Given the description of an element on the screen output the (x, y) to click on. 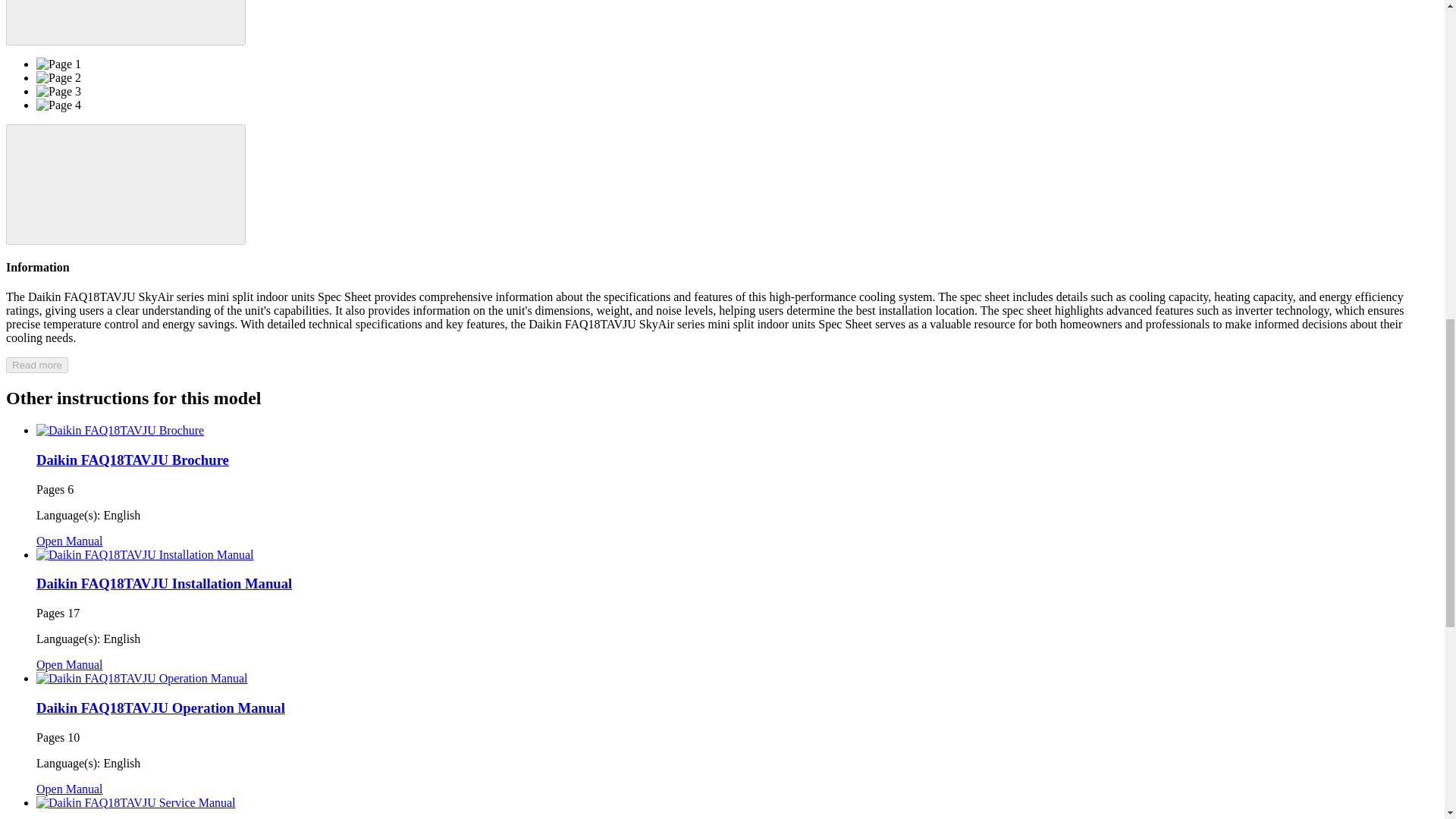
Daikin FAQ18TAVJU Operation Manual (160, 707)
Daikin FAQ18TAVJU Installation Manual (164, 583)
Open Manual (69, 788)
Open Manual (69, 540)
Open Manual (69, 664)
Daikin FAQ18TAVJU Brochure (132, 459)
Read more (36, 365)
